Given the description of an element on the screen output the (x, y) to click on. 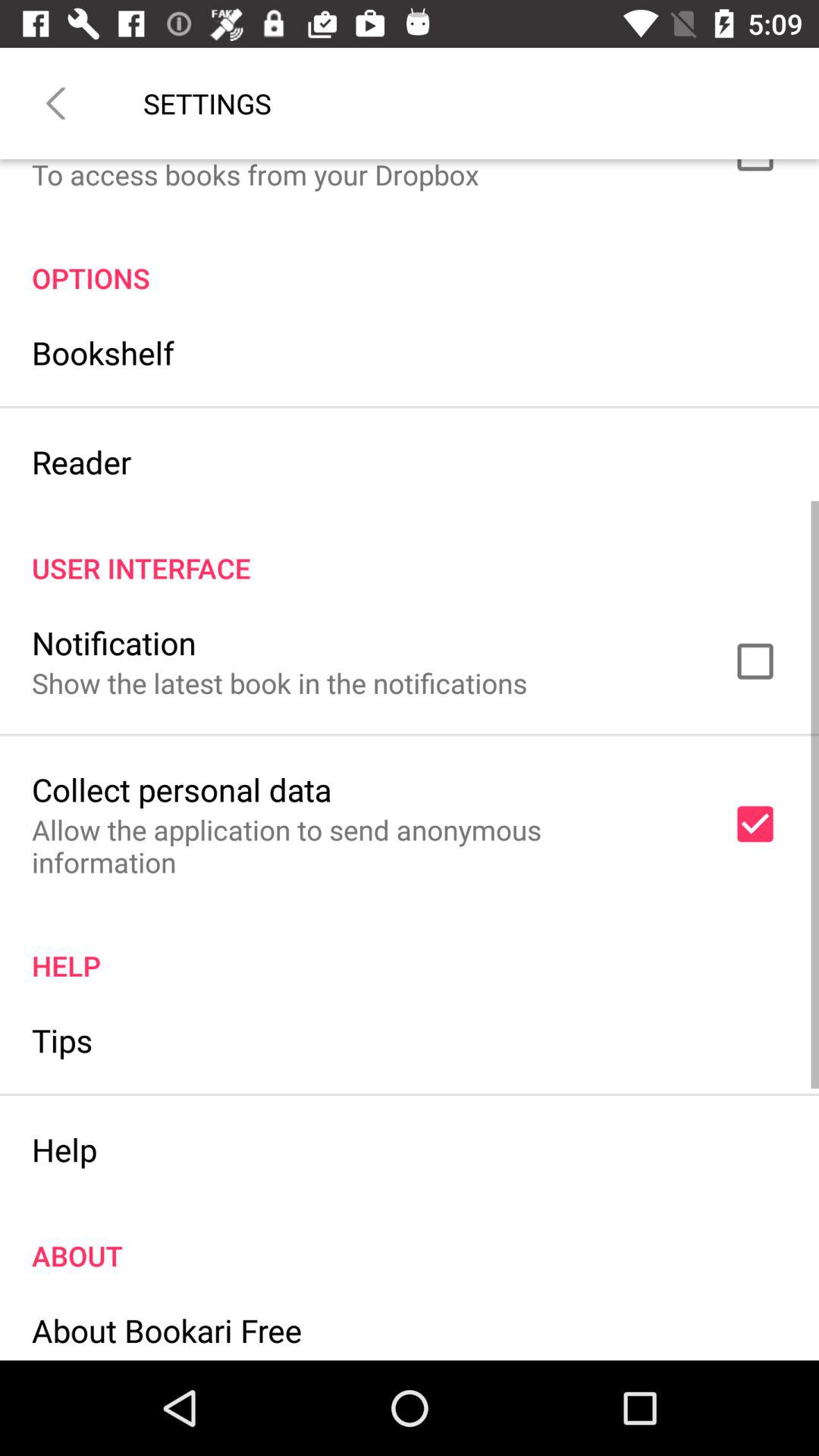
tap item below user interface (113, 642)
